Given the description of an element on the screen output the (x, y) to click on. 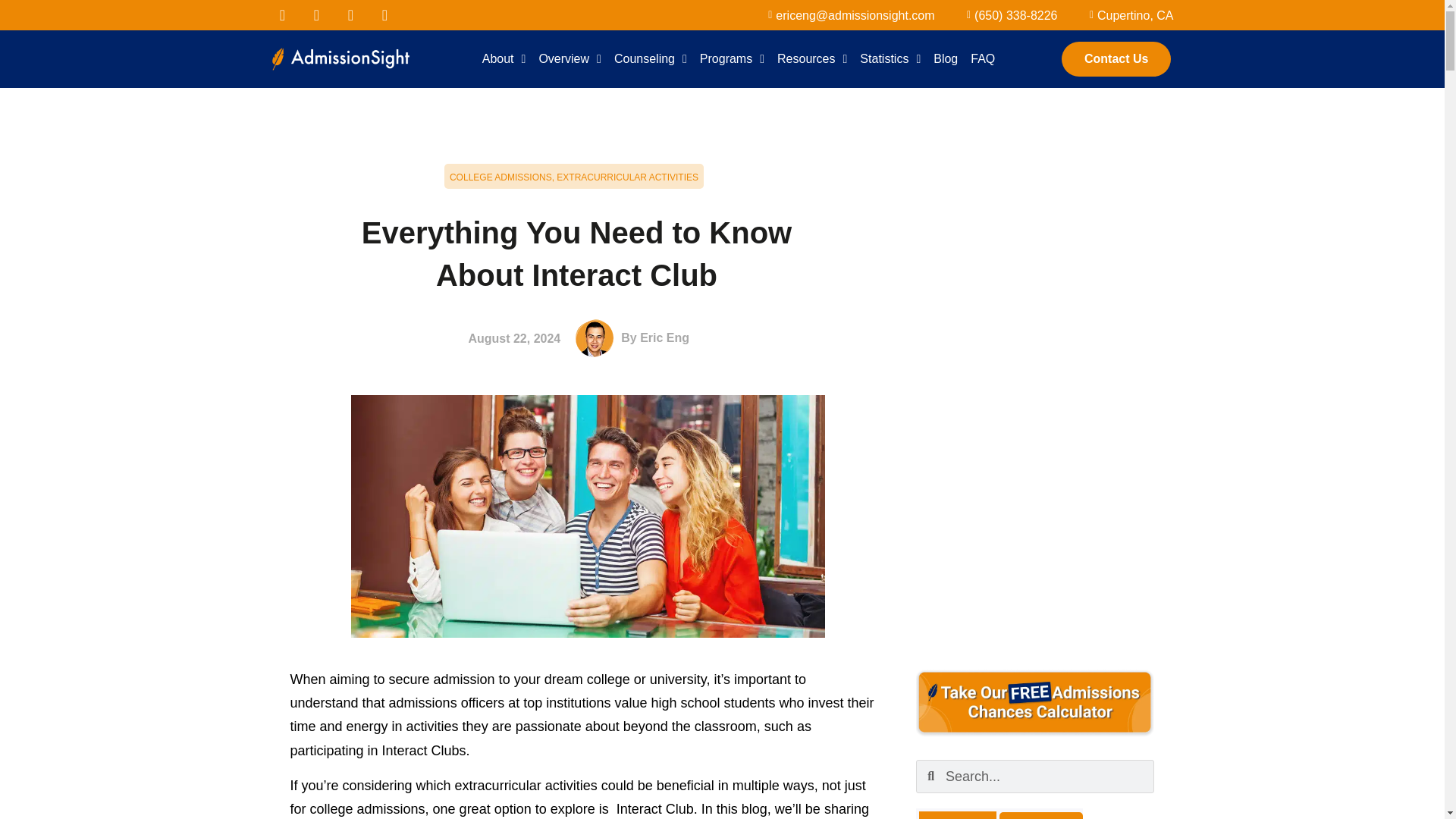
Facebook (281, 15)
Overview (569, 59)
Counseling (650, 59)
Twitter (316, 15)
Programs (731, 59)
Linkedin (349, 15)
About (504, 59)
Instagram (384, 15)
